Given the description of an element on the screen output the (x, y) to click on. 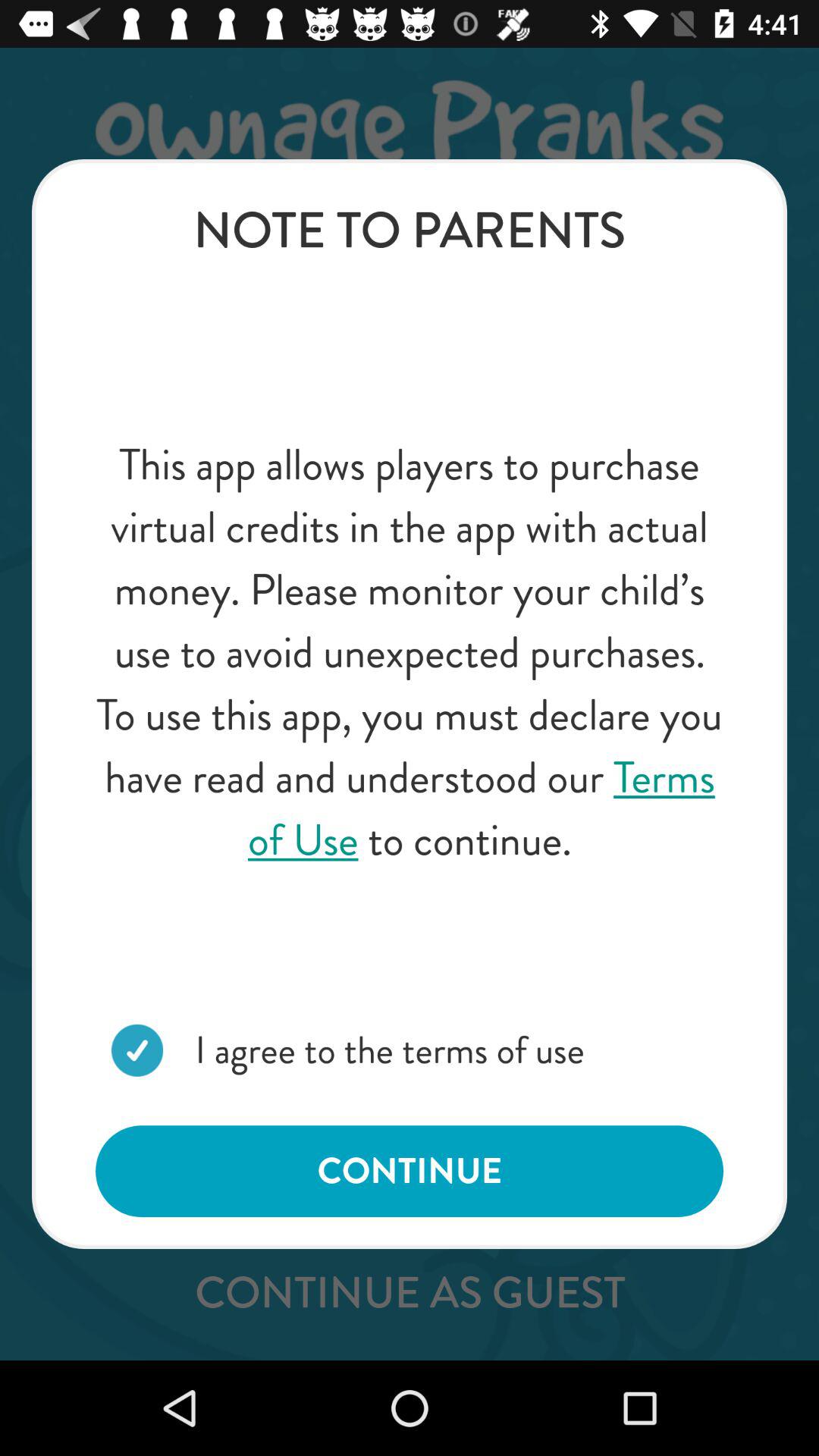
choose the icon below the note to parents icon (409, 652)
